Given the description of an element on the screen output the (x, y) to click on. 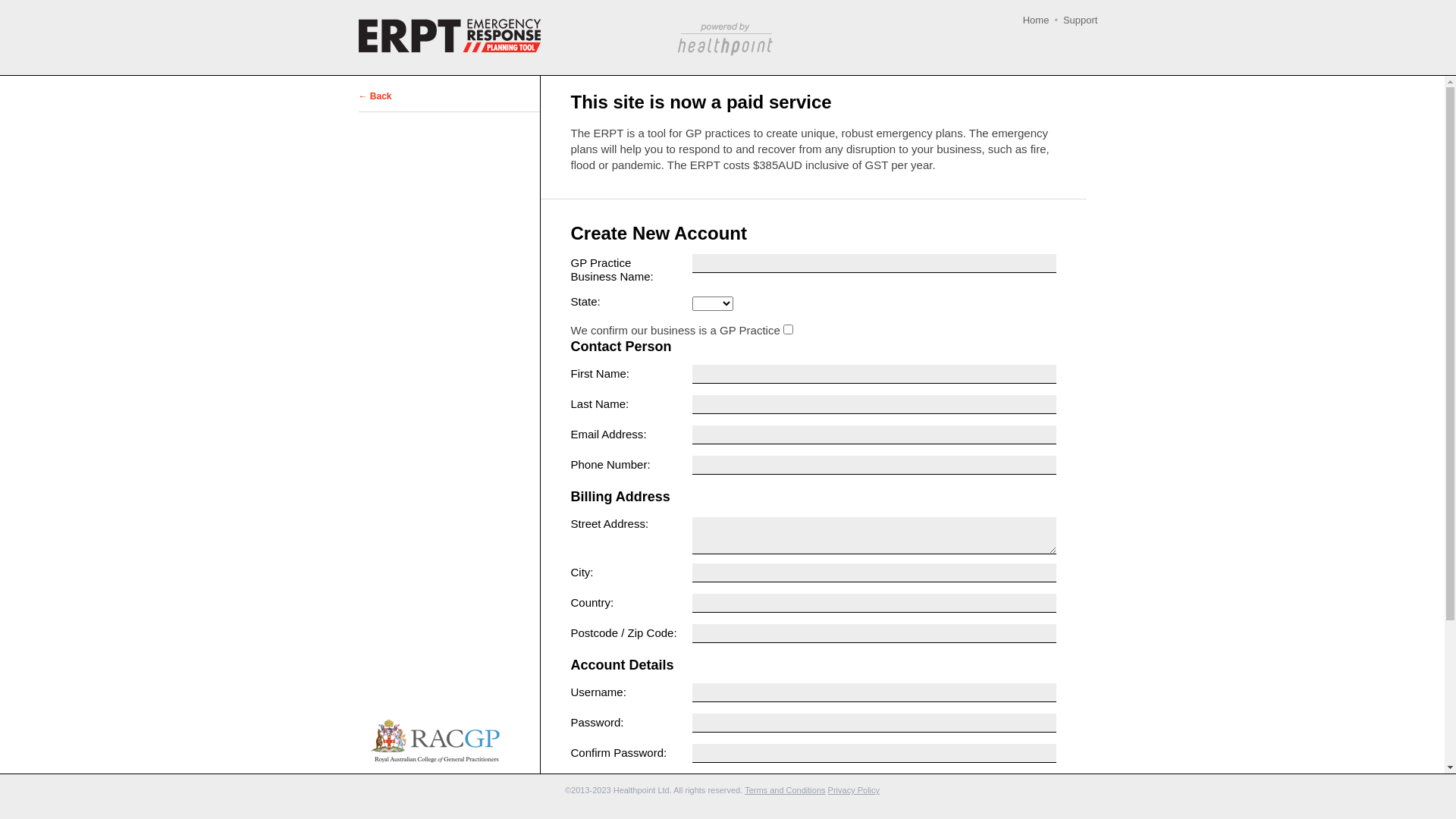
Privacy Policy Element type: text (853, 789)
Home Element type: text (1035, 19)
Support Element type: text (1080, 19)
Terms and Conditions Element type: text (784, 789)
EPRT Australia Element type: text (448, 35)
Powered by Healthpoint Element type: text (723, 39)
